Given the description of an element on the screen output the (x, y) to click on. 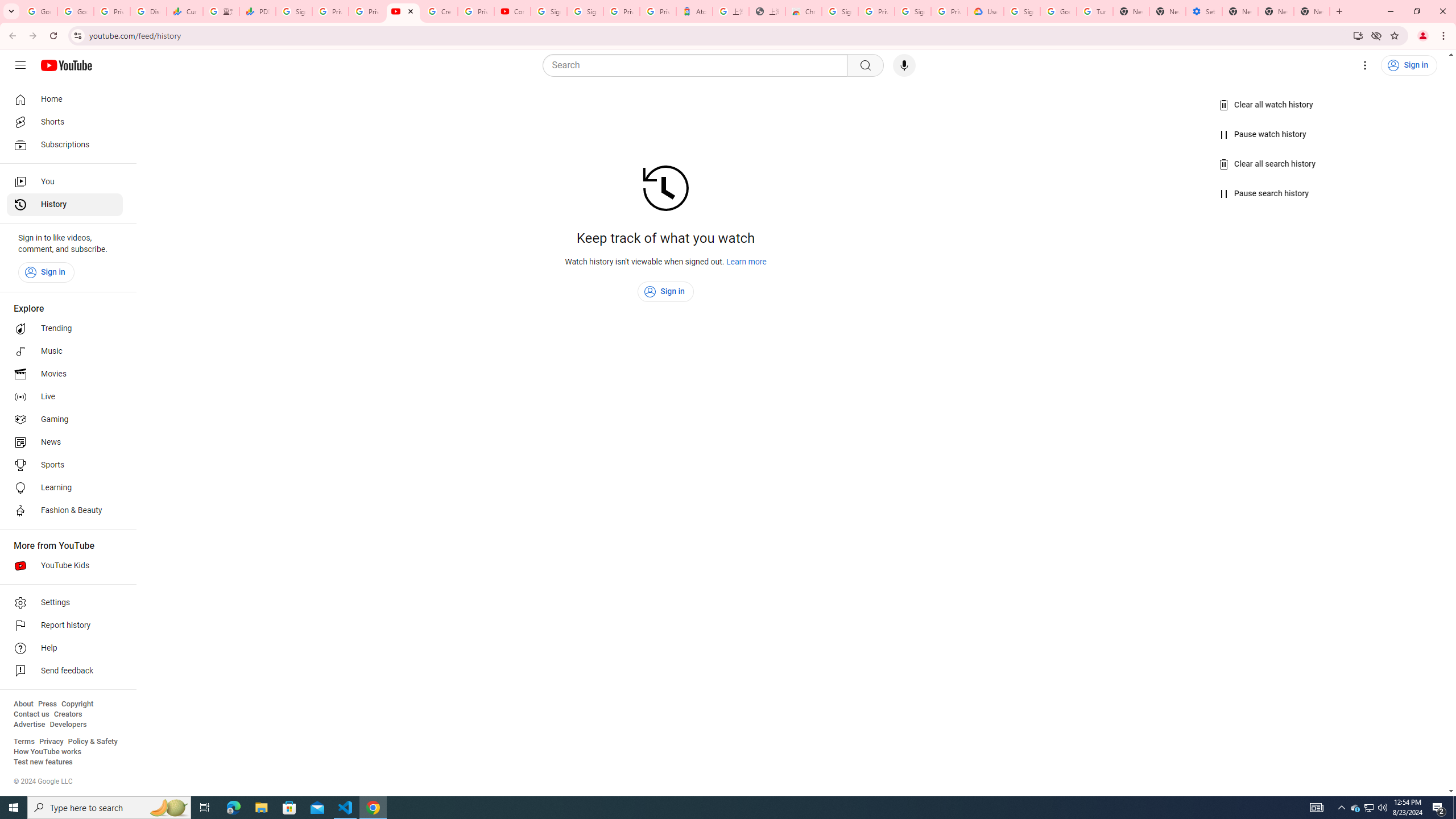
History (64, 204)
Report history (64, 625)
Music (64, 350)
Policy & Safety (91, 741)
Send feedback (64, 671)
News (64, 441)
YouTube (403, 11)
Sign in - Google Accounts (839, 11)
